Given the description of an element on the screen output the (x, y) to click on. 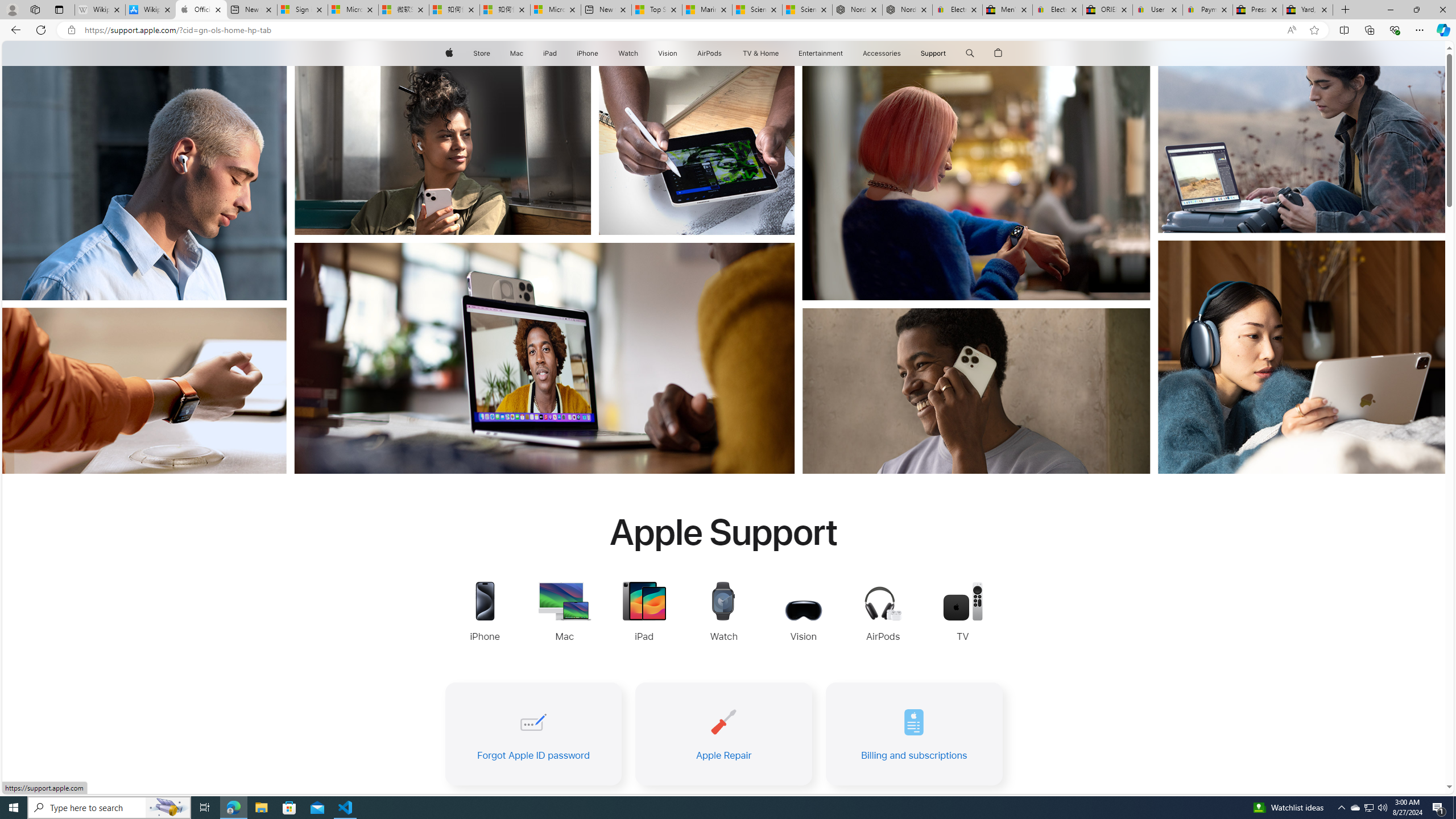
Mac (516, 53)
iPhone menu (600, 53)
Store (481, 53)
User Privacy Notice | eBay (1158, 9)
Support (932, 53)
Apple Repair (723, 734)
Apple Watch Support (724, 612)
Press Room - eBay Inc. (1257, 9)
